Given the description of an element on the screen output the (x, y) to click on. 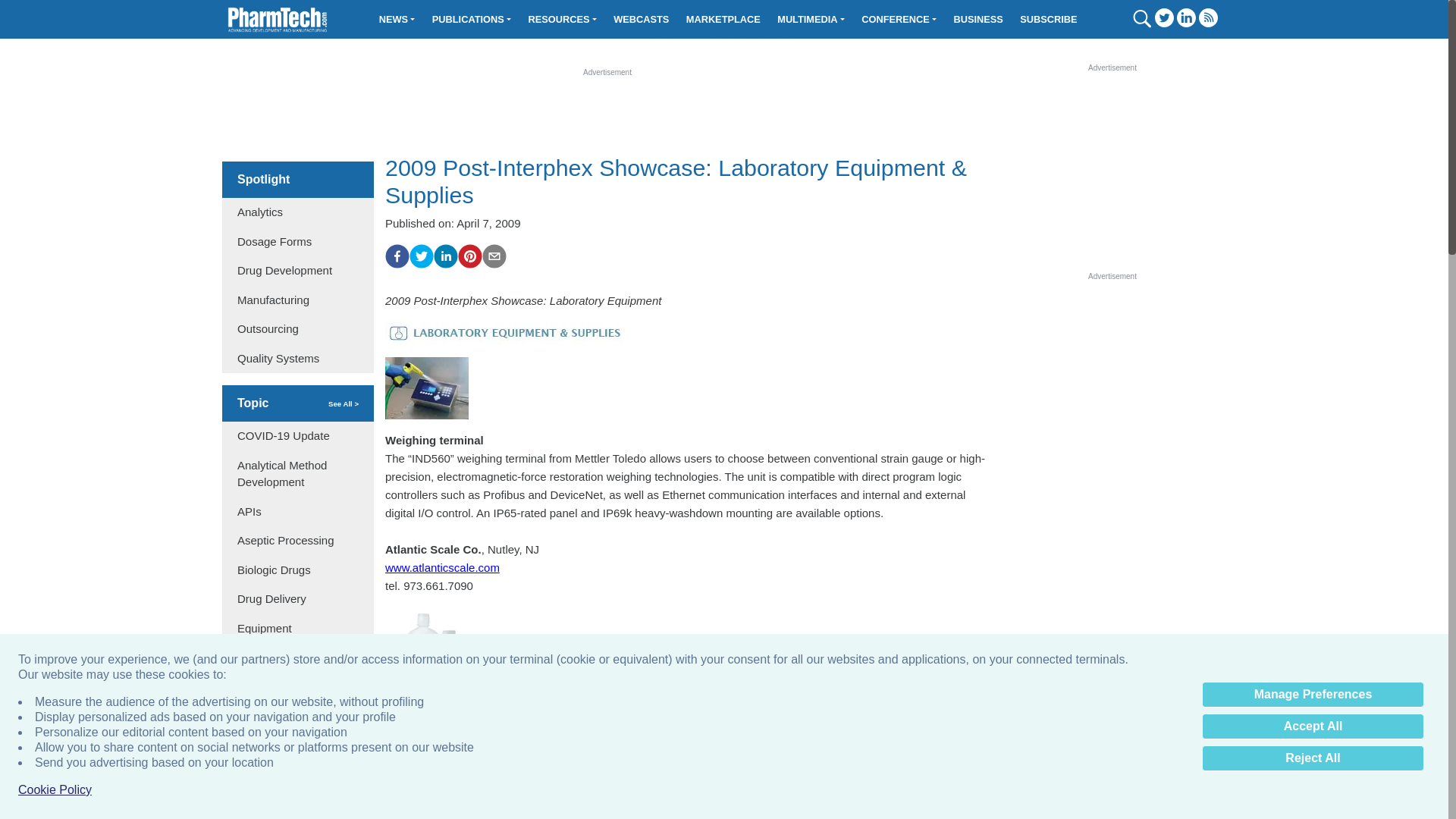
3rd party ad content (724, 785)
Manage Preferences (1312, 694)
NEWS (397, 18)
Reject All (1312, 758)
3rd party ad content (1111, 376)
Cookie Policy (54, 789)
3rd party ad content (1111, 167)
3rd party ad content (607, 111)
Accept All (1312, 726)
